Given the description of an element on the screen output the (x, y) to click on. 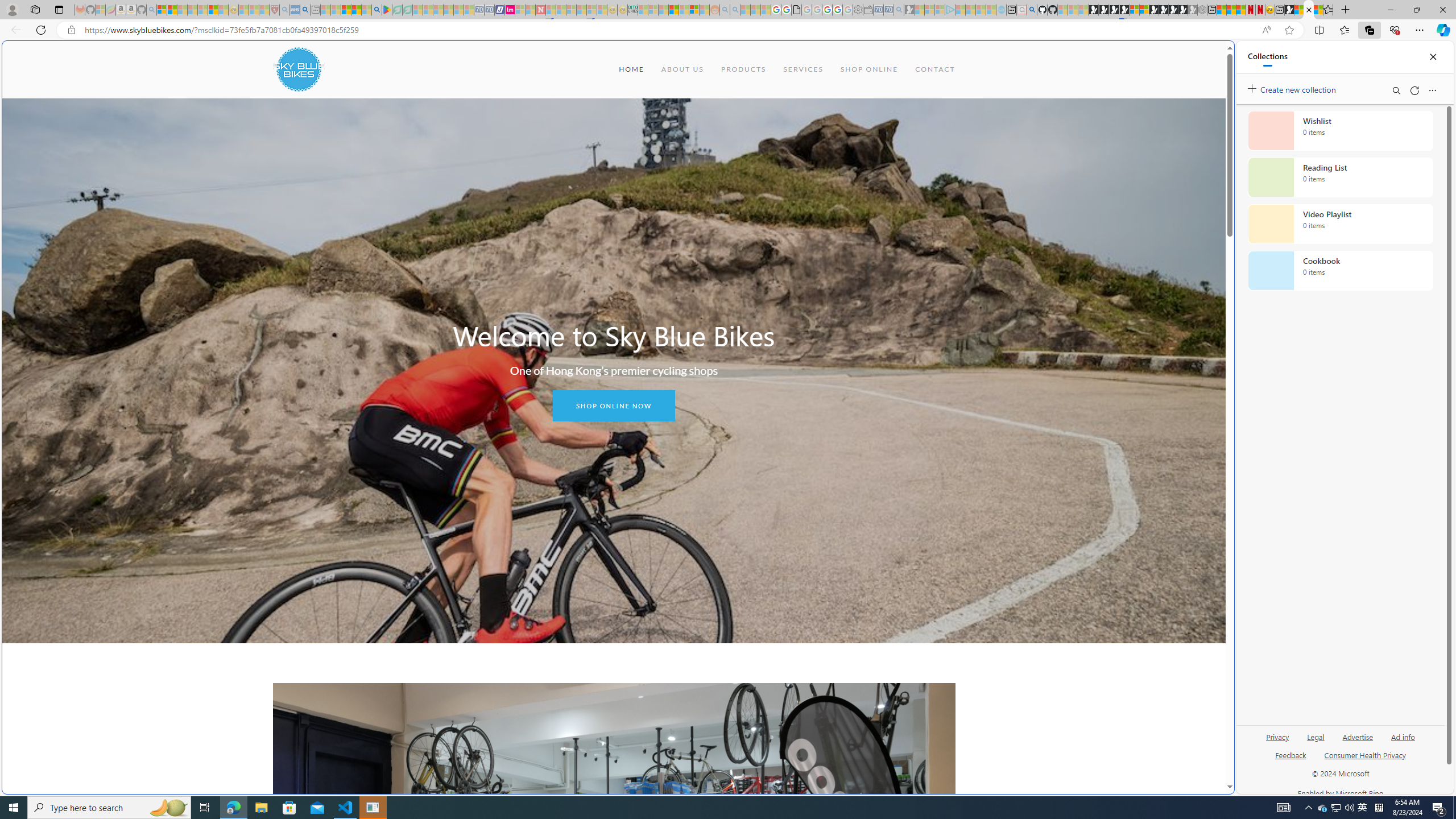
utah sues federal government - Search (304, 9)
CONTACT (935, 68)
PRODUCTS (742, 68)
